Given the description of an element on the screen output the (x, y) to click on. 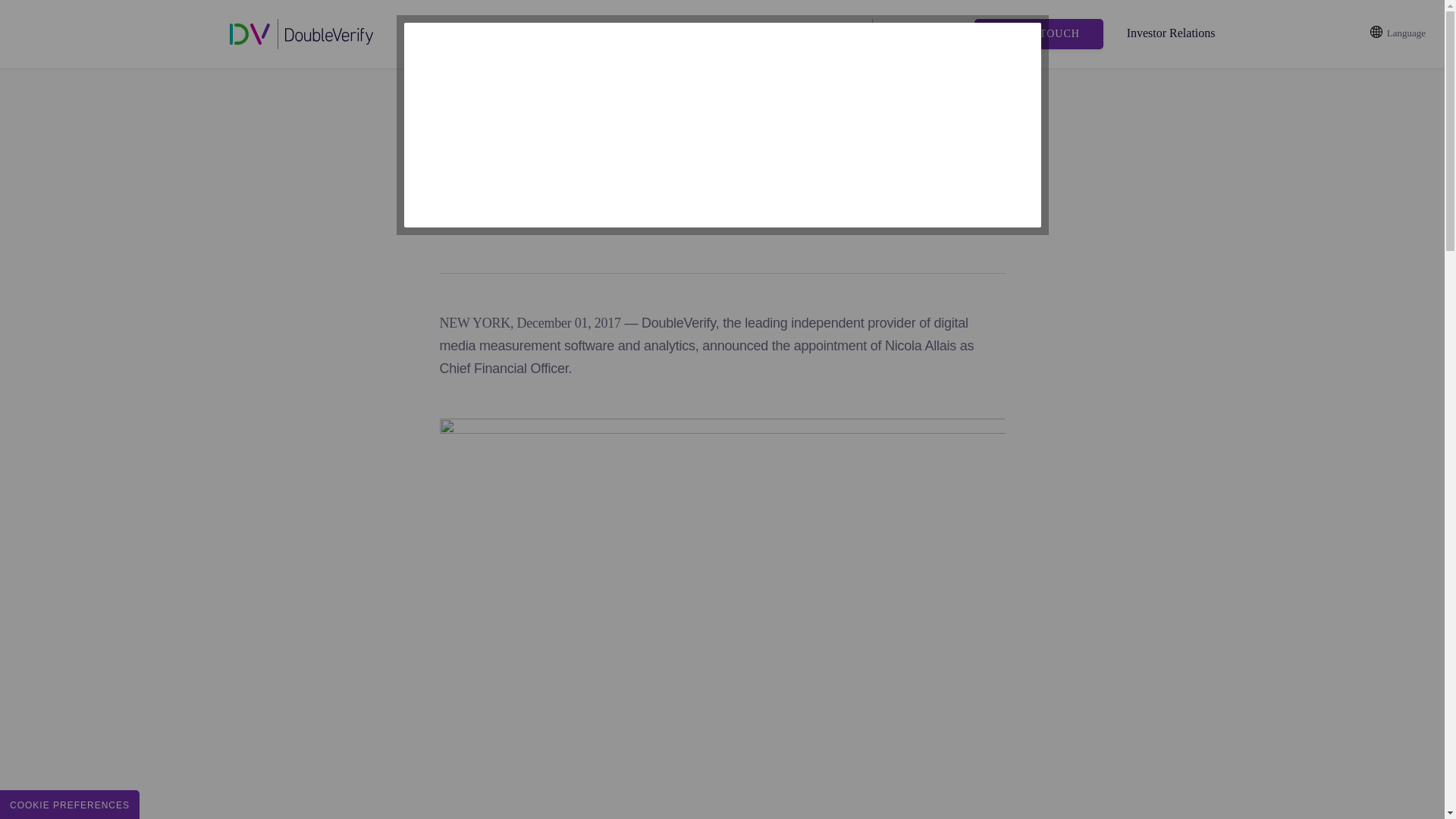
Careers (827, 33)
Innovation (584, 33)
Contact (766, 33)
